Given the description of an element on the screen output the (x, y) to click on. 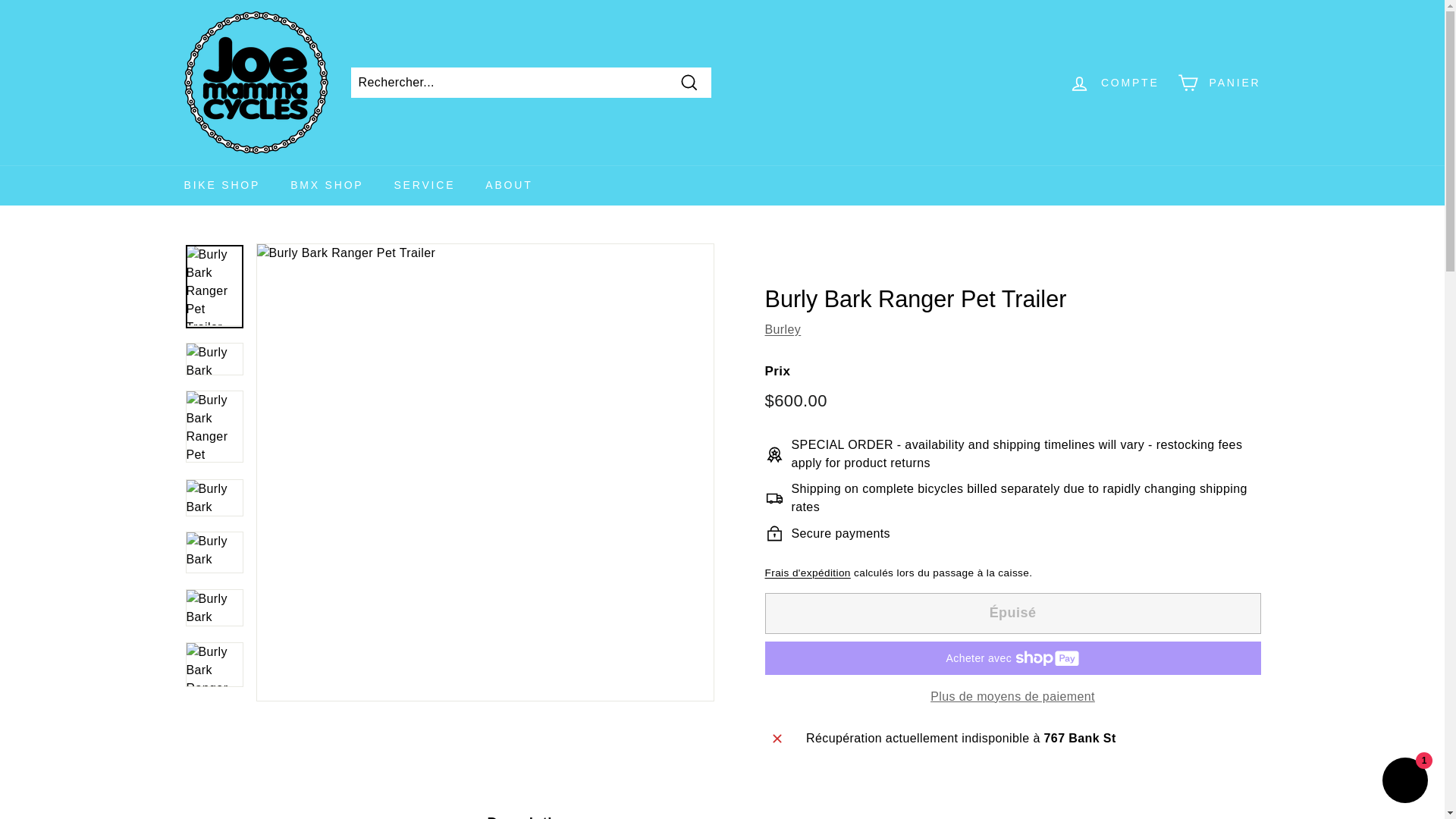
Burley (782, 328)
COMPTE (1114, 82)
BIKE SHOP (221, 185)
